Given the description of an element on the screen output the (x, y) to click on. 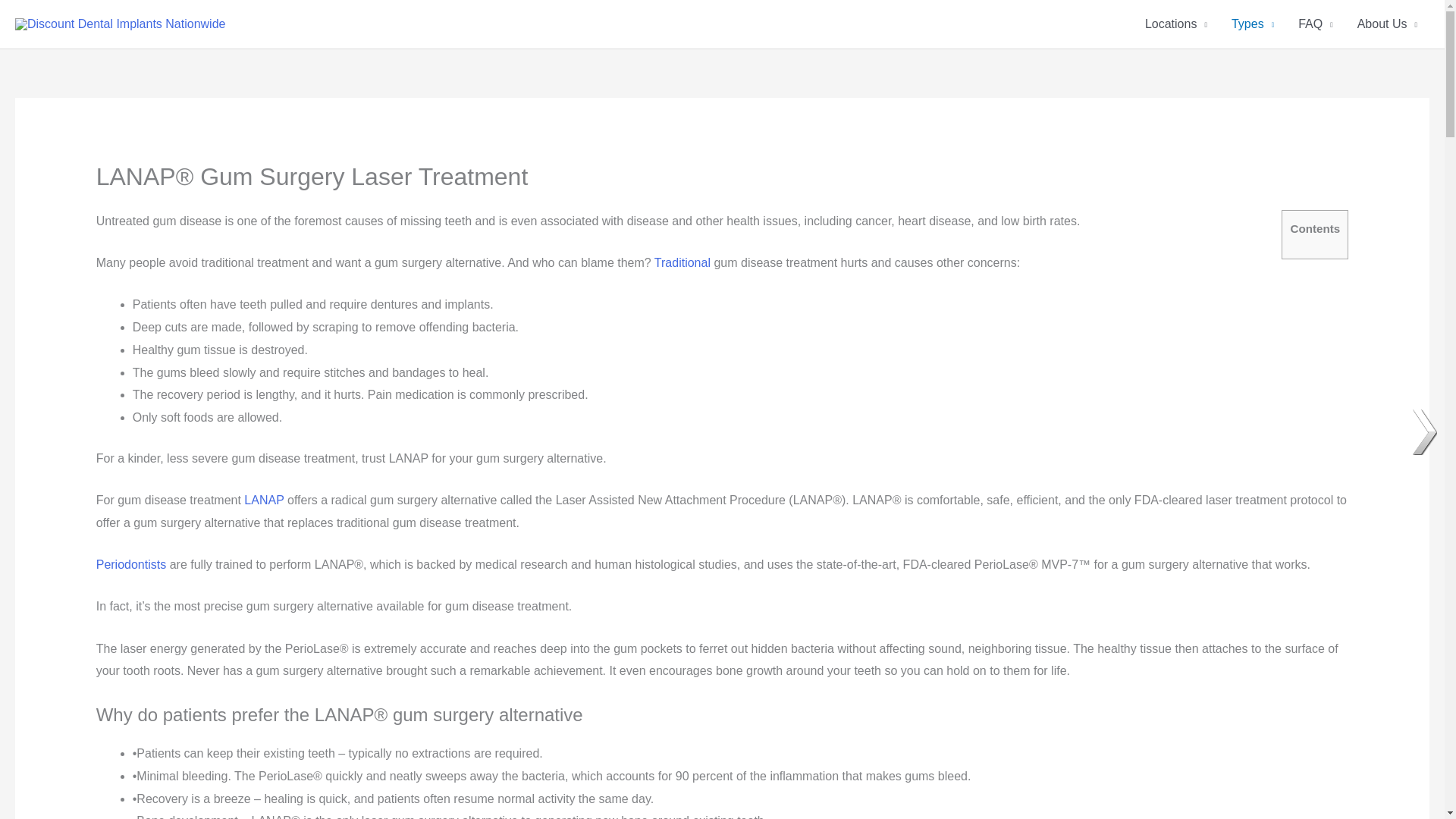
FAQ (1315, 24)
LANAP (263, 499)
Types (1252, 24)
Traditional (681, 262)
Locations (1176, 24)
About Us (1387, 24)
Periodontists (131, 563)
